Given the description of an element on the screen output the (x, y) to click on. 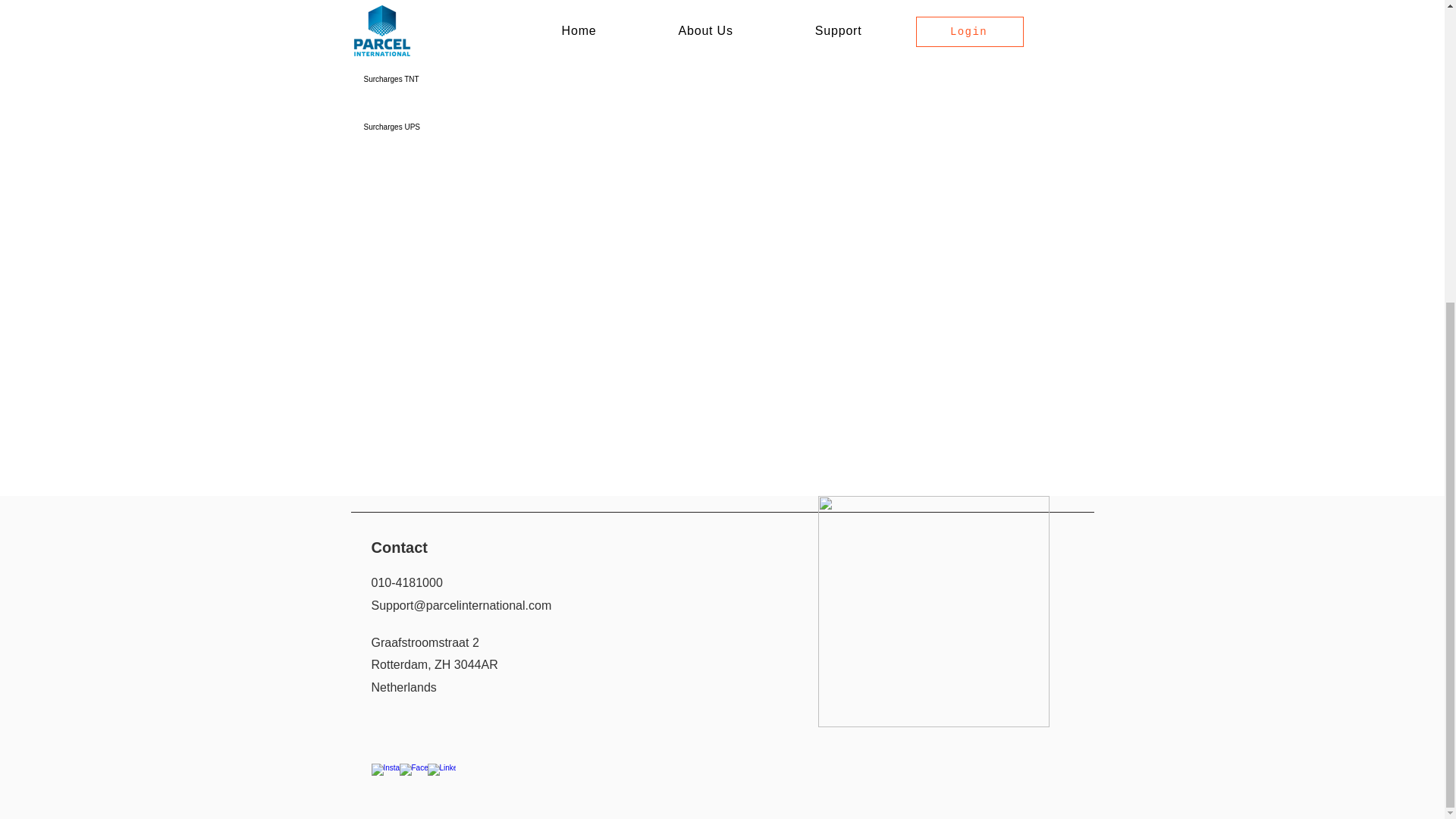
Surcharges PostNL (417, 3)
Surcharges UPS (417, 126)
Surcharges TNT (417, 79)
Surcharges SkyNet (417, 31)
